Given the description of an element on the screen output the (x, y) to click on. 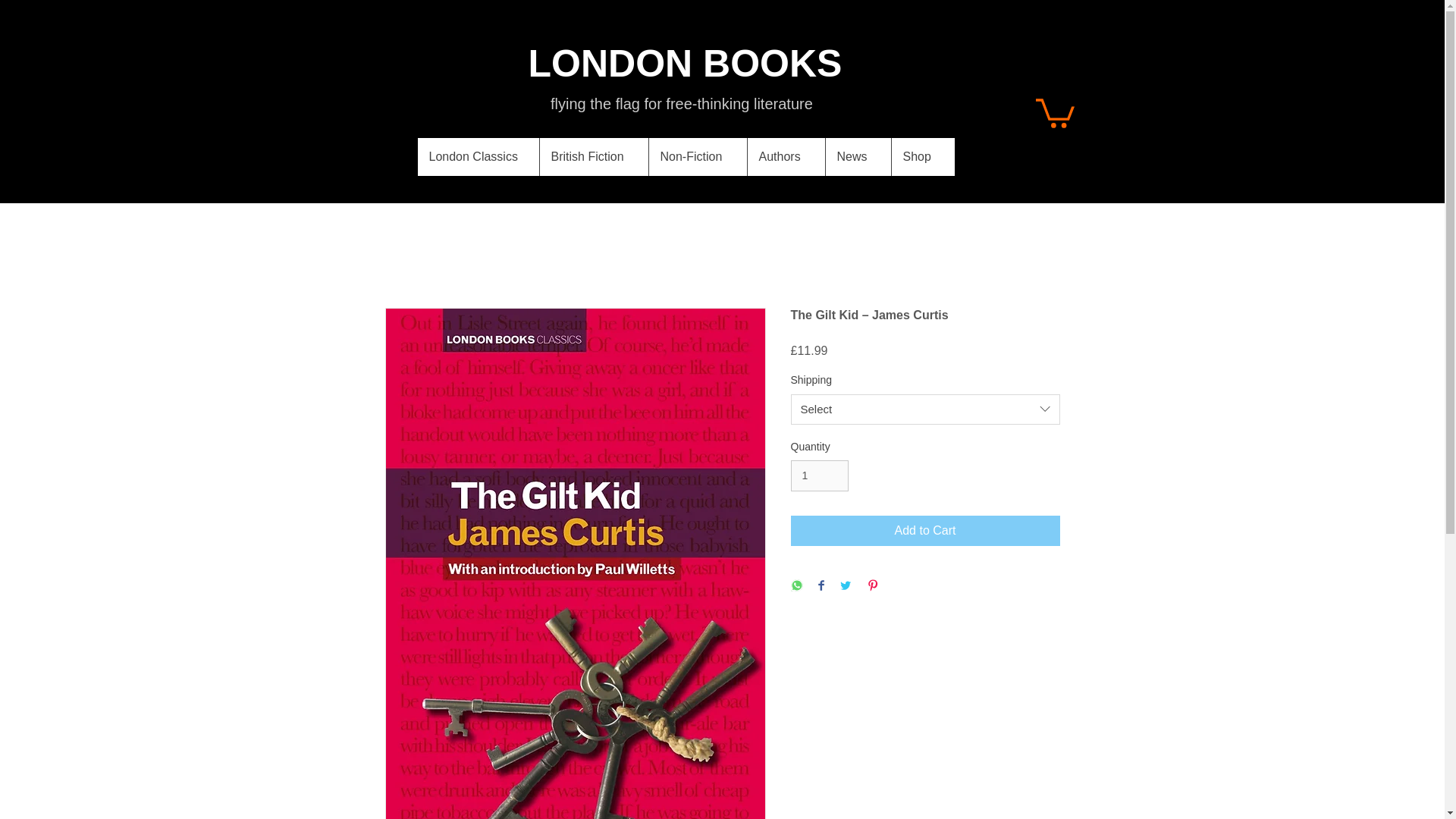
LONDON BOOKS (685, 63)
Non-Fiction (696, 157)
British Fiction (592, 157)
1 (818, 475)
London Classics (477, 157)
Authors (784, 157)
